Given the description of an element on the screen output the (x, y) to click on. 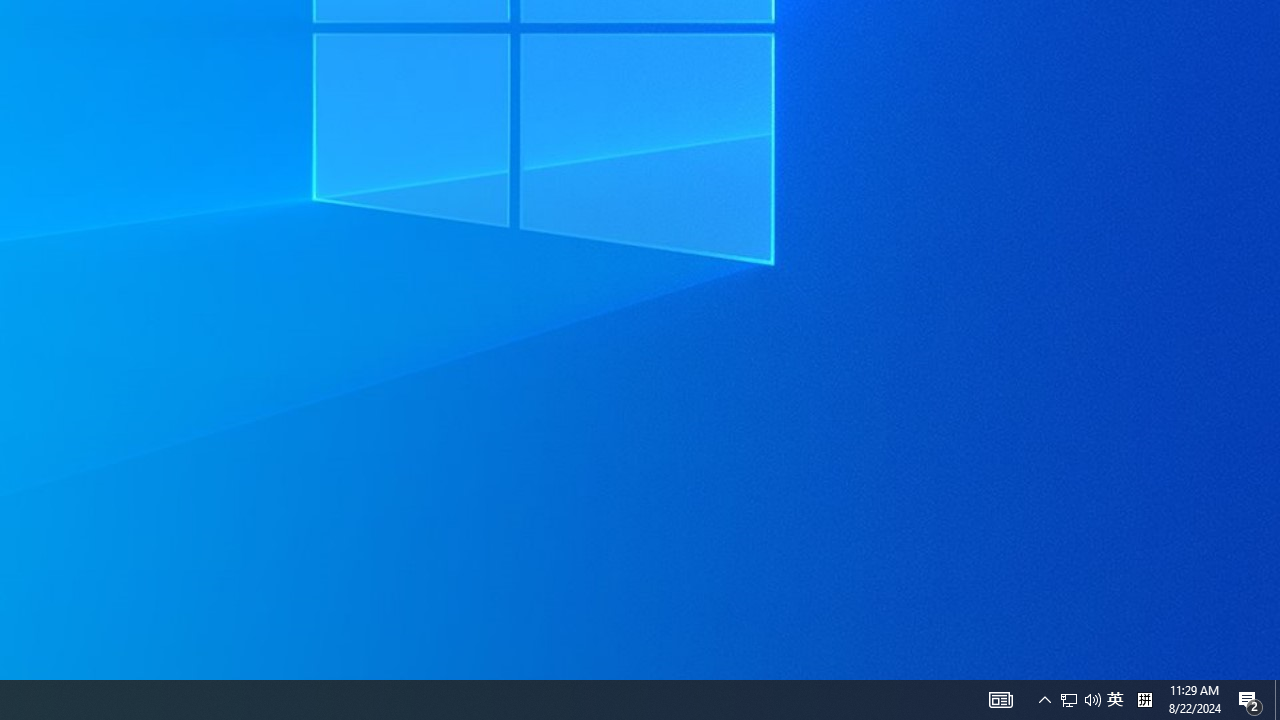
Q2790: 100% (1092, 699)
Show desktop (1115, 699)
Action Center, 2 new notifications (1277, 699)
AutomationID: 4105 (1250, 699)
User Promoted Notification Area (1000, 699)
Tray Input Indicator - Chinese (Simplified, China) (1080, 699)
Notification Chevron (1069, 699)
